Given the description of an element on the screen output the (x, y) to click on. 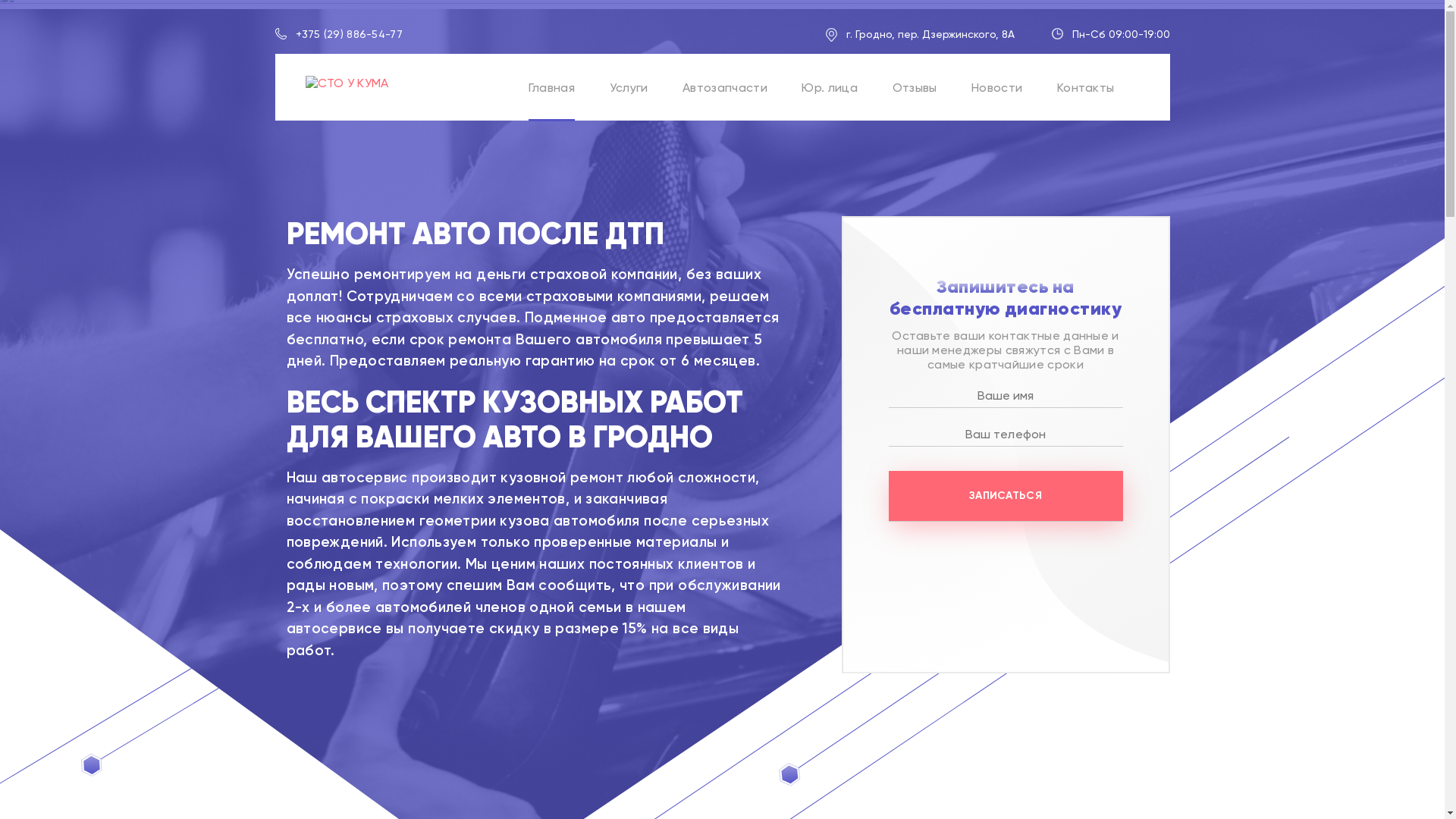
+375 (29) 886-54-77 Element type: text (348, 34)
